Given the description of an element on the screen output the (x, y) to click on. 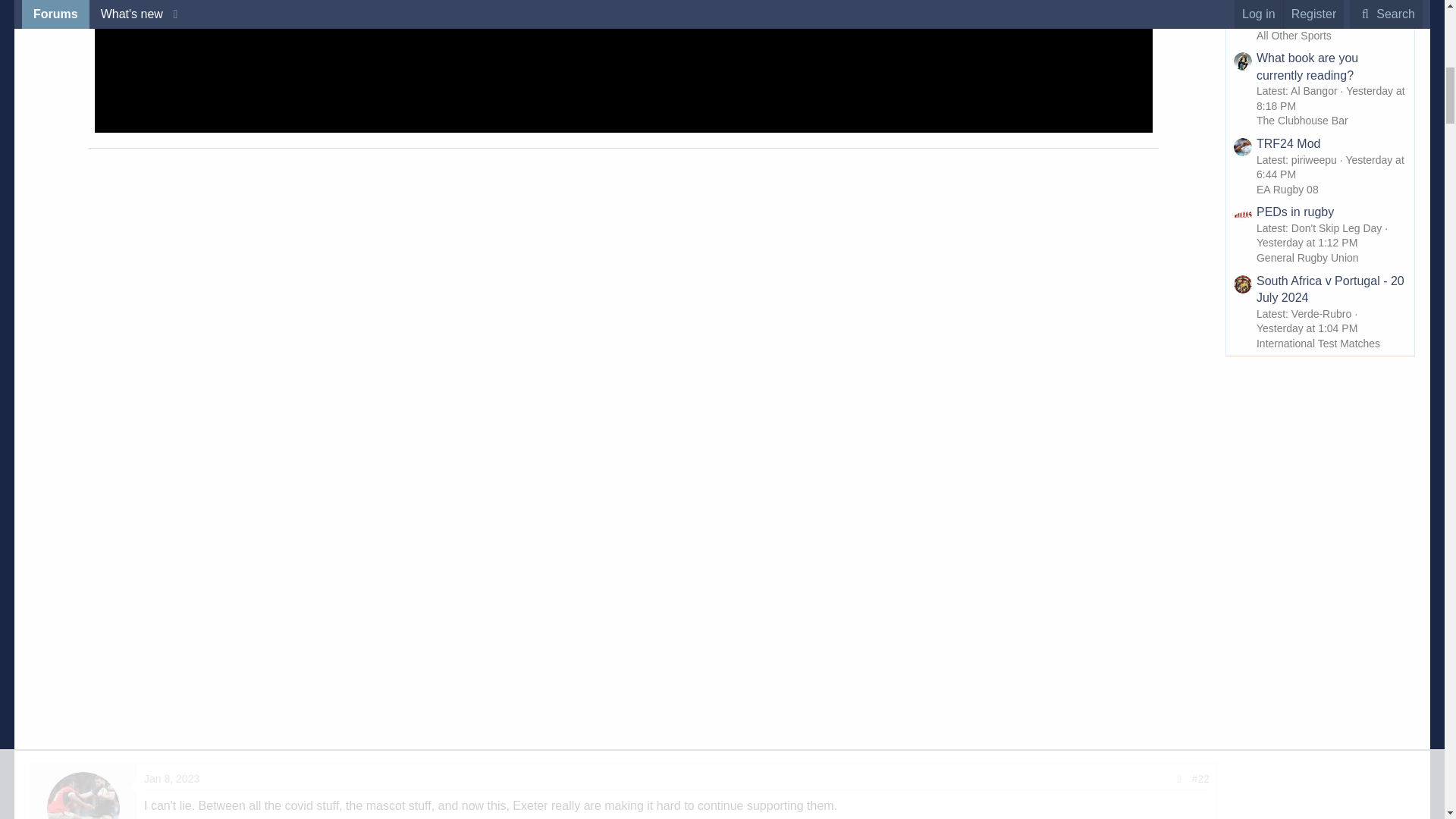
Jan 8, 2023 at 1:37 PM (171, 778)
